Given the description of an element on the screen output the (x, y) to click on. 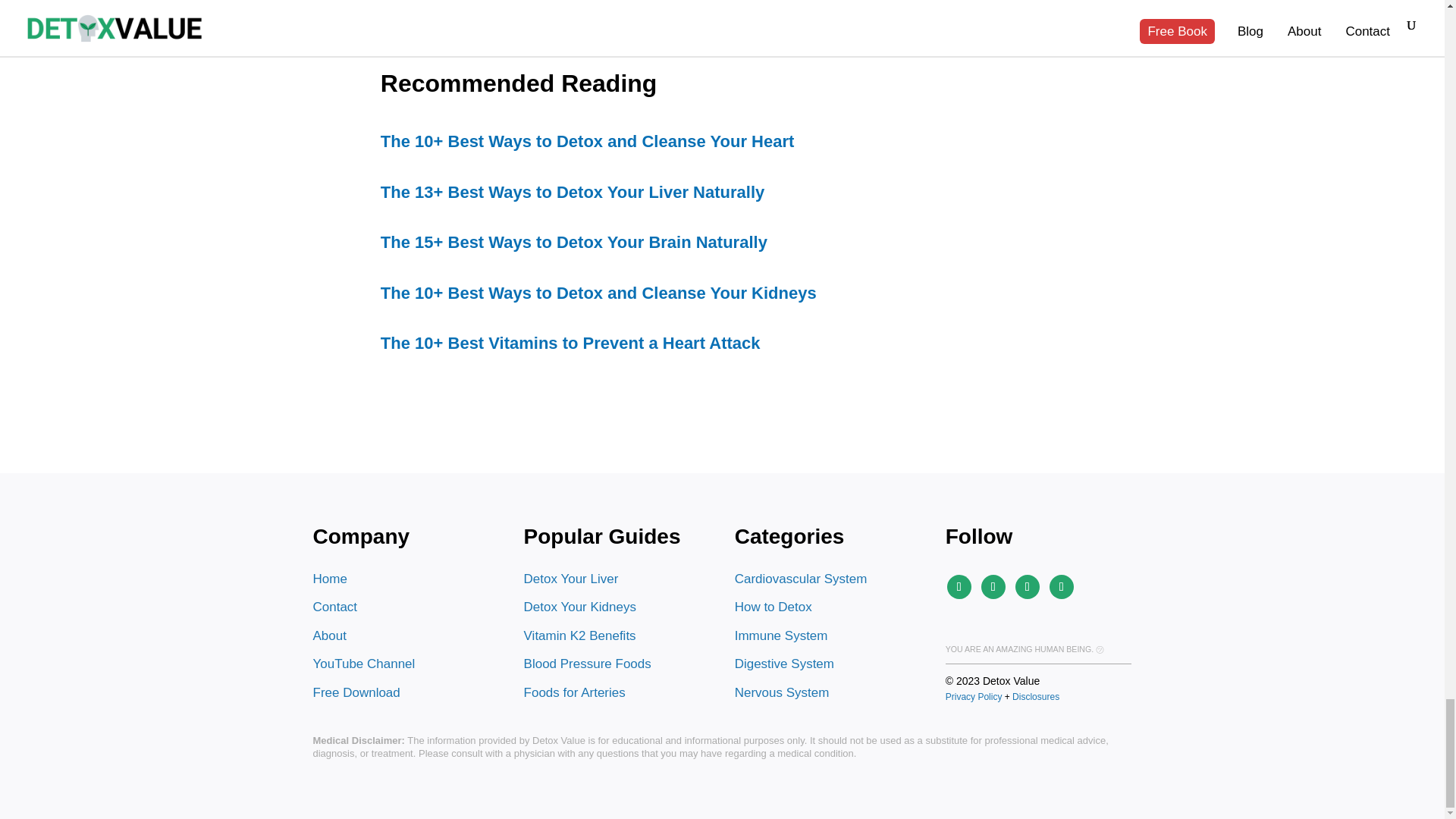
Detox Your Kidneys (580, 606)
Follow on Facebook (1026, 586)
Cardiovascular System (801, 578)
Vitamin K2 Benefits (580, 635)
How to Detox (773, 606)
About (329, 635)
Follow on Twitter (1061, 586)
Blood Pressure Foods (587, 663)
Contact (334, 606)
Detox Your Liver (571, 578)
